Given the description of an element on the screen output the (x, y) to click on. 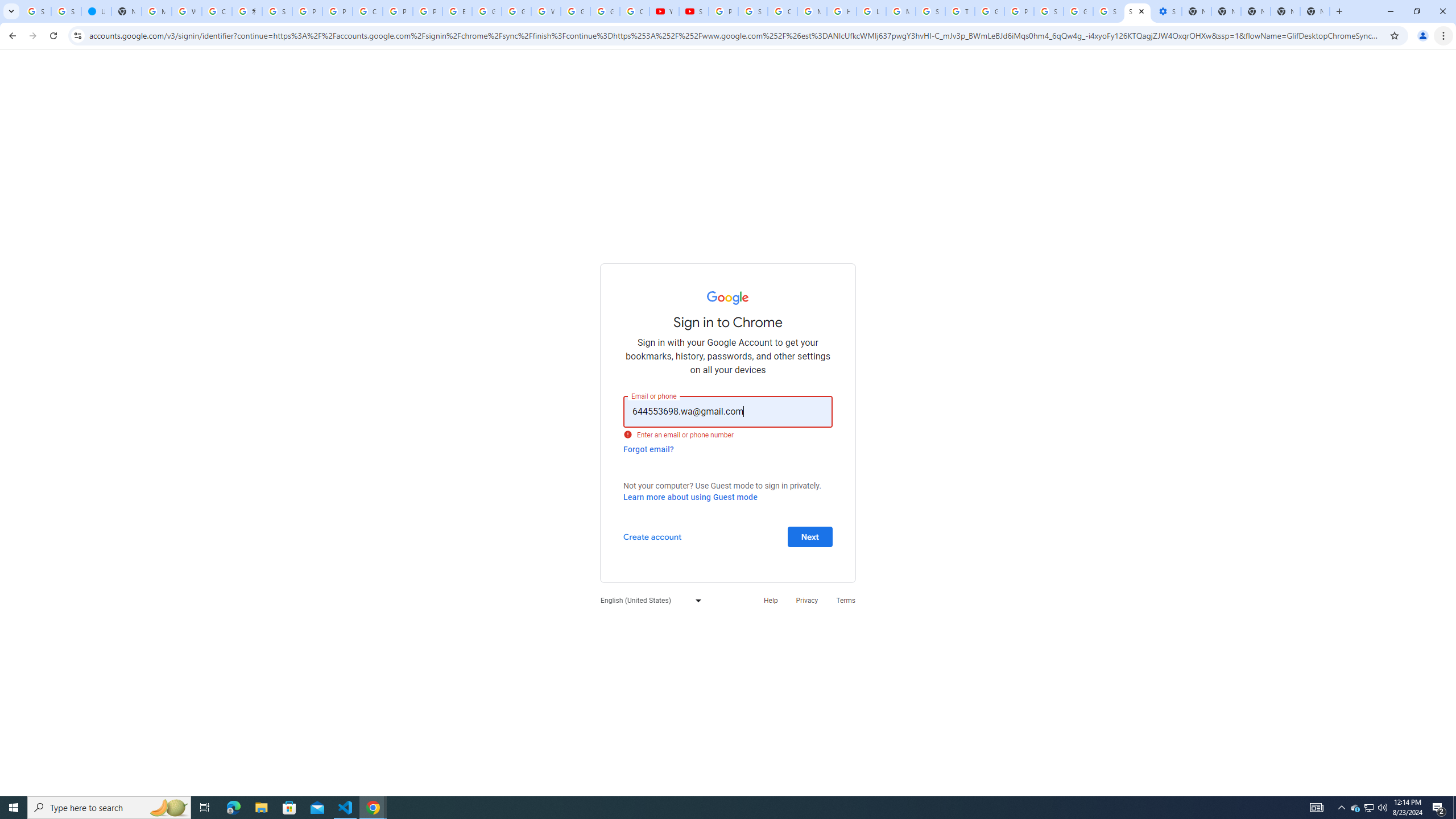
Edit and view right-to-left text - Google Docs Editors Help (456, 11)
Who is my administrator? - Google Account Help (185, 11)
